Given the description of an element on the screen output the (x, y) to click on. 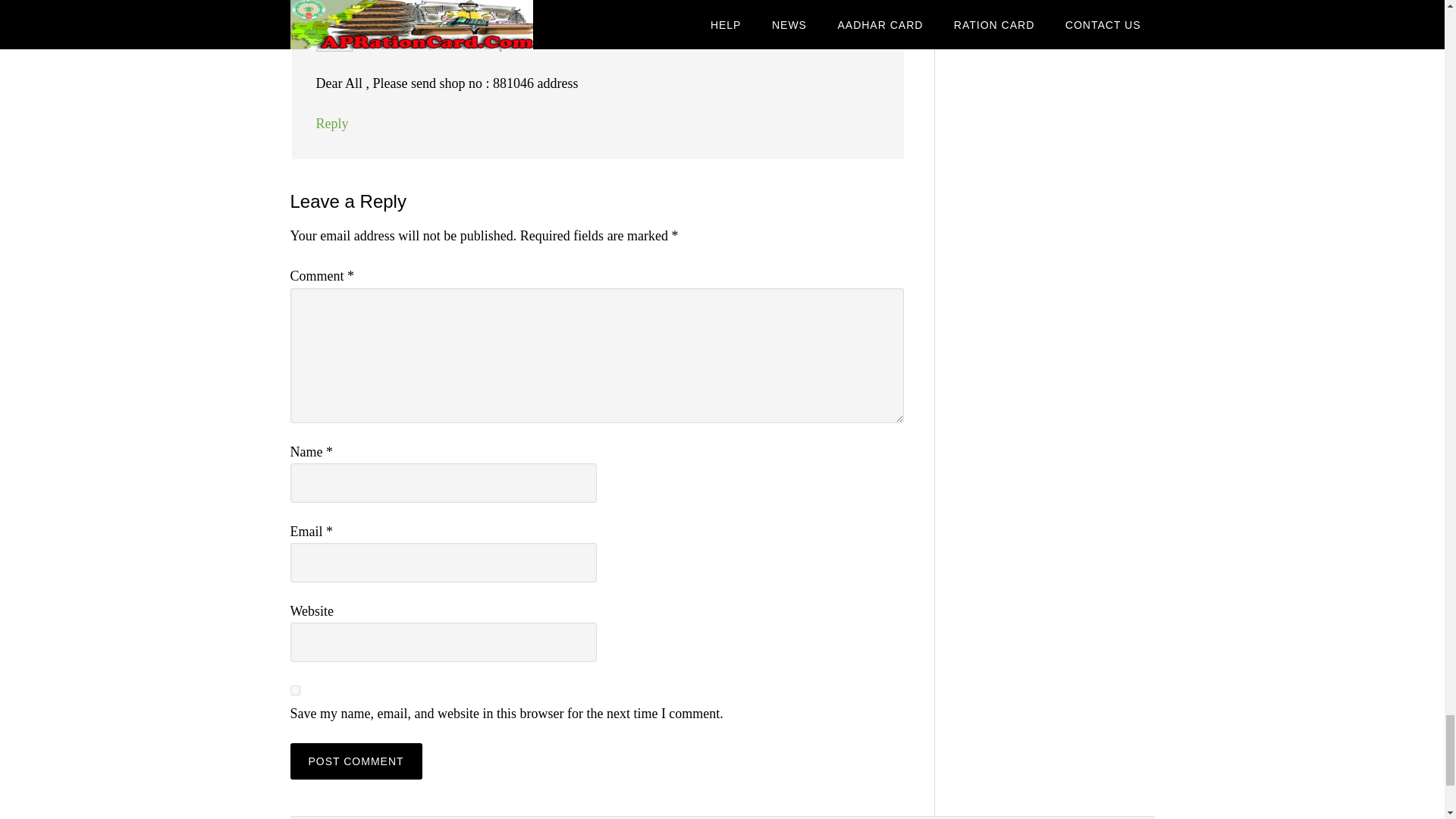
yes (294, 690)
Post Comment (355, 760)
